Given the description of an element on the screen output the (x, y) to click on. 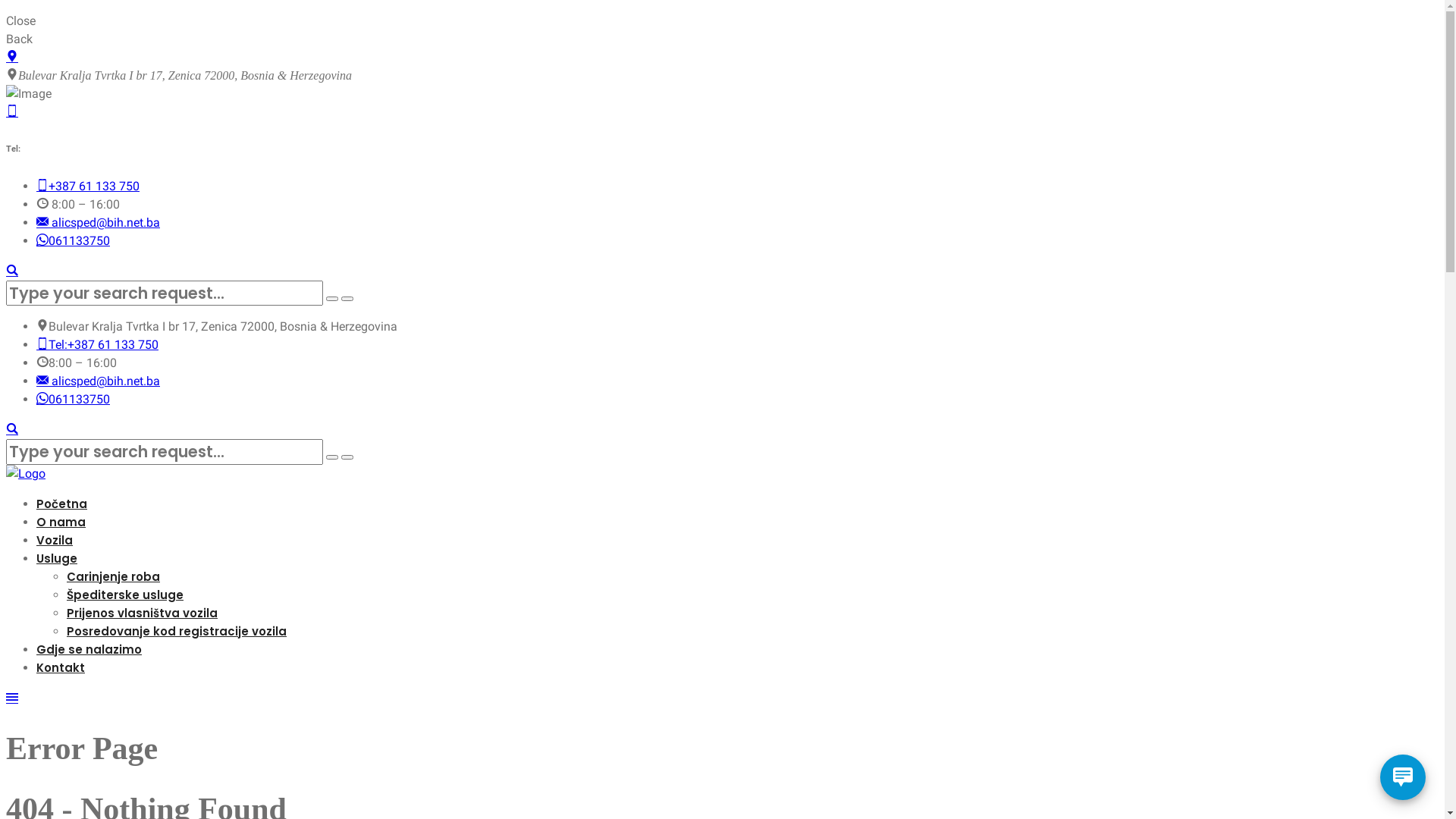
Vozila Element type: text (54, 540)
Gdje se nalazimo Element type: text (88, 649)
+387 61 133 750 Element type: text (87, 185)
Tel:+387 61 133 750 Element type: text (97, 344)
Carinjenje roba Element type: text (113, 576)
Posredovanje kod registracije vozila Element type: text (176, 631)
alicsped@bih.net.ba Element type: text (98, 380)
061133750 Element type: text (72, 399)
Kontakt Element type: text (60, 667)
alicsped@bih.net.ba Element type: text (98, 222)
061133750 Element type: text (72, 240)
O nama Element type: text (60, 522)
Usluge Element type: text (56, 558)
